Given the description of an element on the screen output the (x, y) to click on. 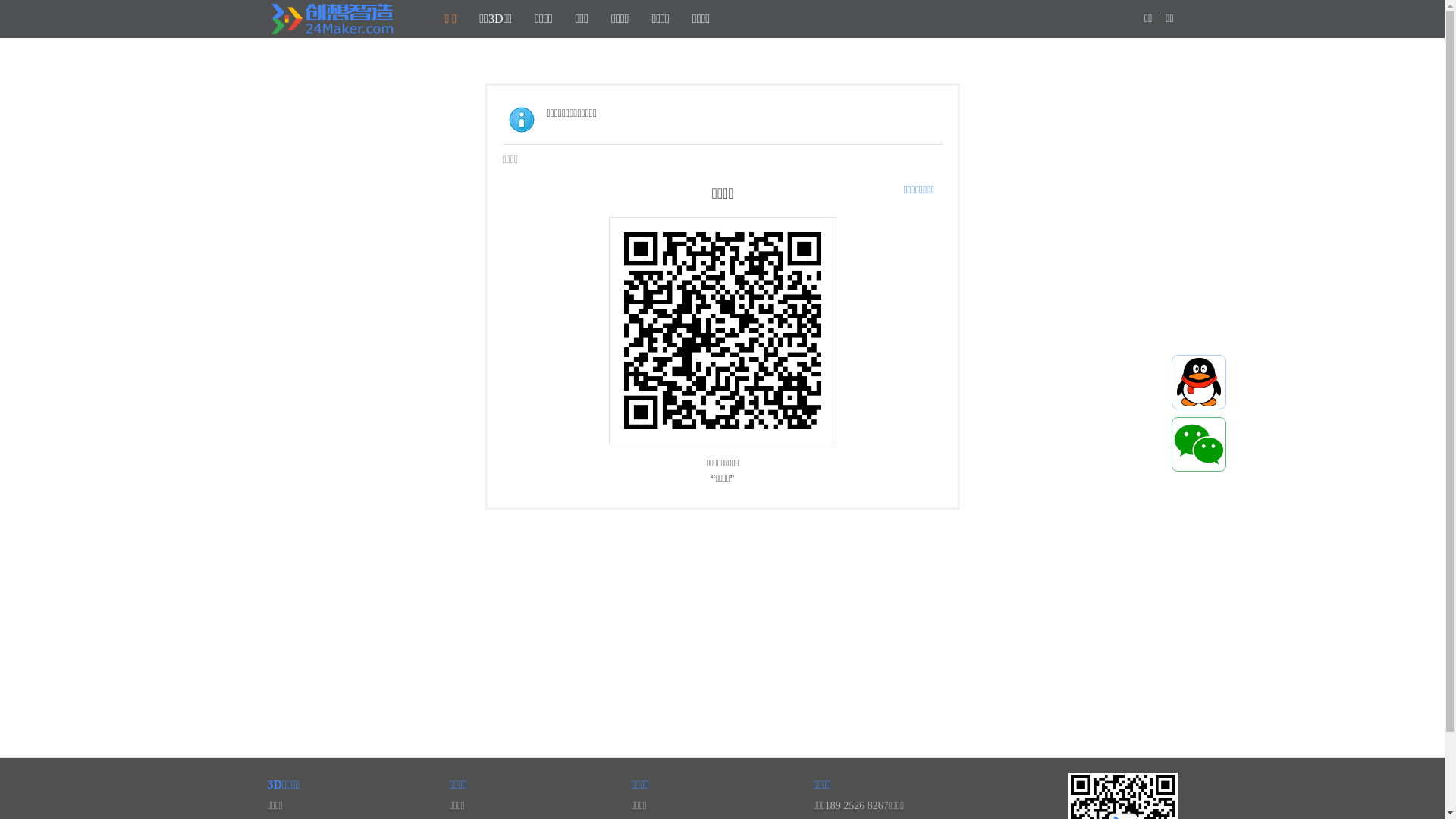
  Element type: text (1198, 444)
  Element type: text (1198, 381)
